Given the description of an element on the screen output the (x, y) to click on. 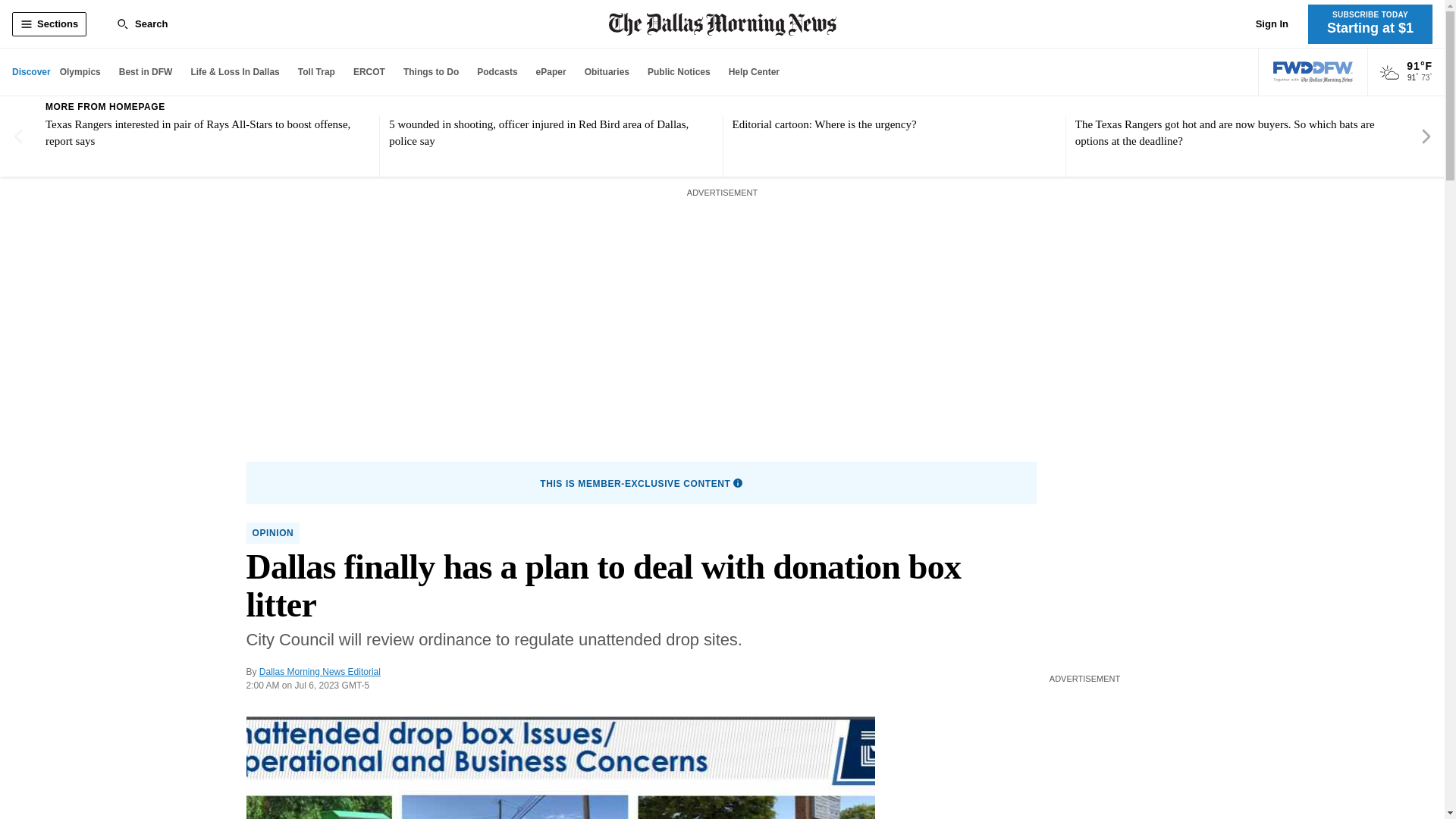
FWD DFW, Together with The Dallas Morning News (1313, 72)
Scattered clouds (1389, 72)
